Given the description of an element on the screen output the (x, y) to click on. 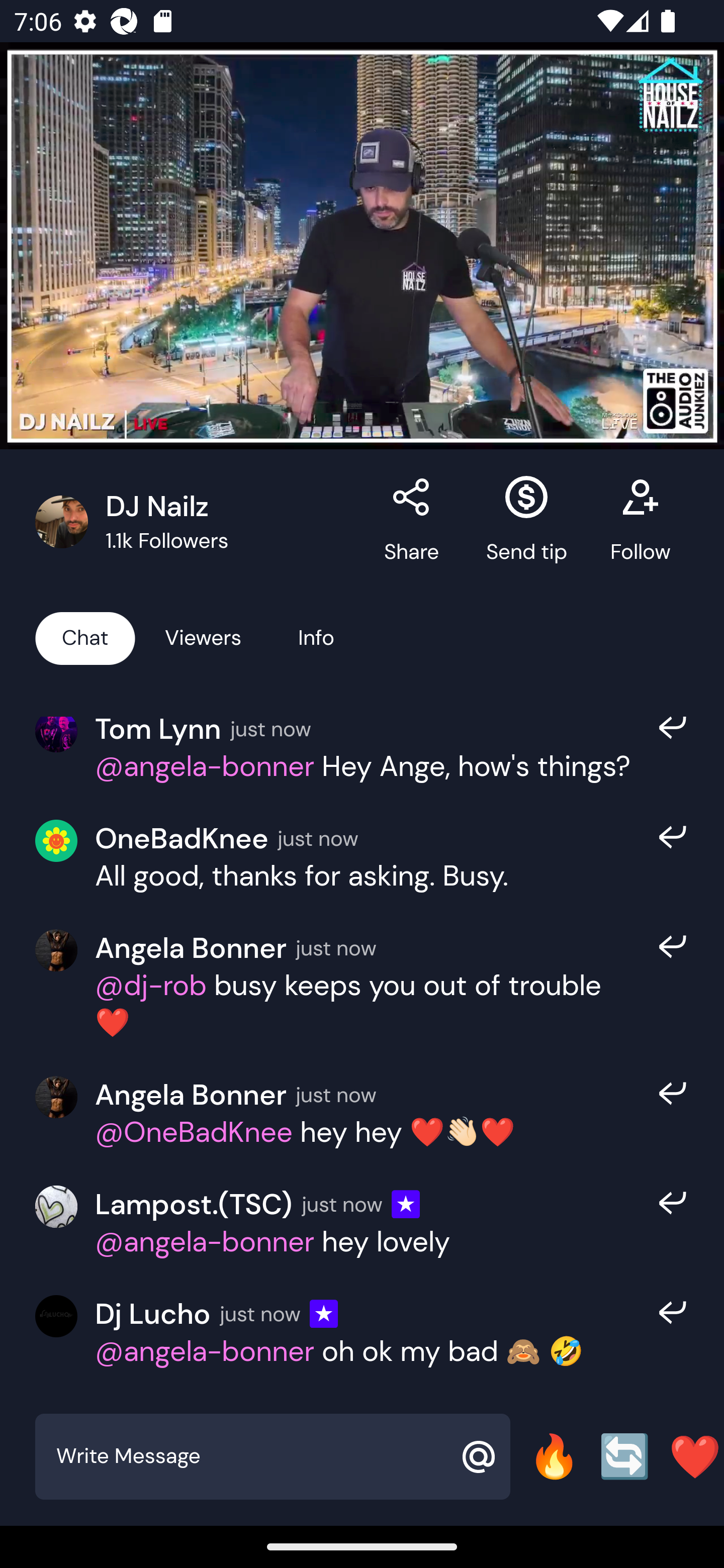
DJ Nailz, 1.1k Followers DJ Nailz 1.1k Followers (199, 521)
Share (411, 521)
Send tip (525, 521)
Follow (640, 521)
Chat (84, 636)
Viewers (203, 636)
Info (316, 636)
Tom Lynn (157, 838)
OneBadKnee (181, 947)
Angela Bonner (190, 1204)
Lampost.(TSC) (193, 1313)
Write Message (250, 1456)
🔥 (553, 1456)
🔄 (624, 1456)
❤️ (694, 1456)
